Given the description of an element on the screen output the (x, y) to click on. 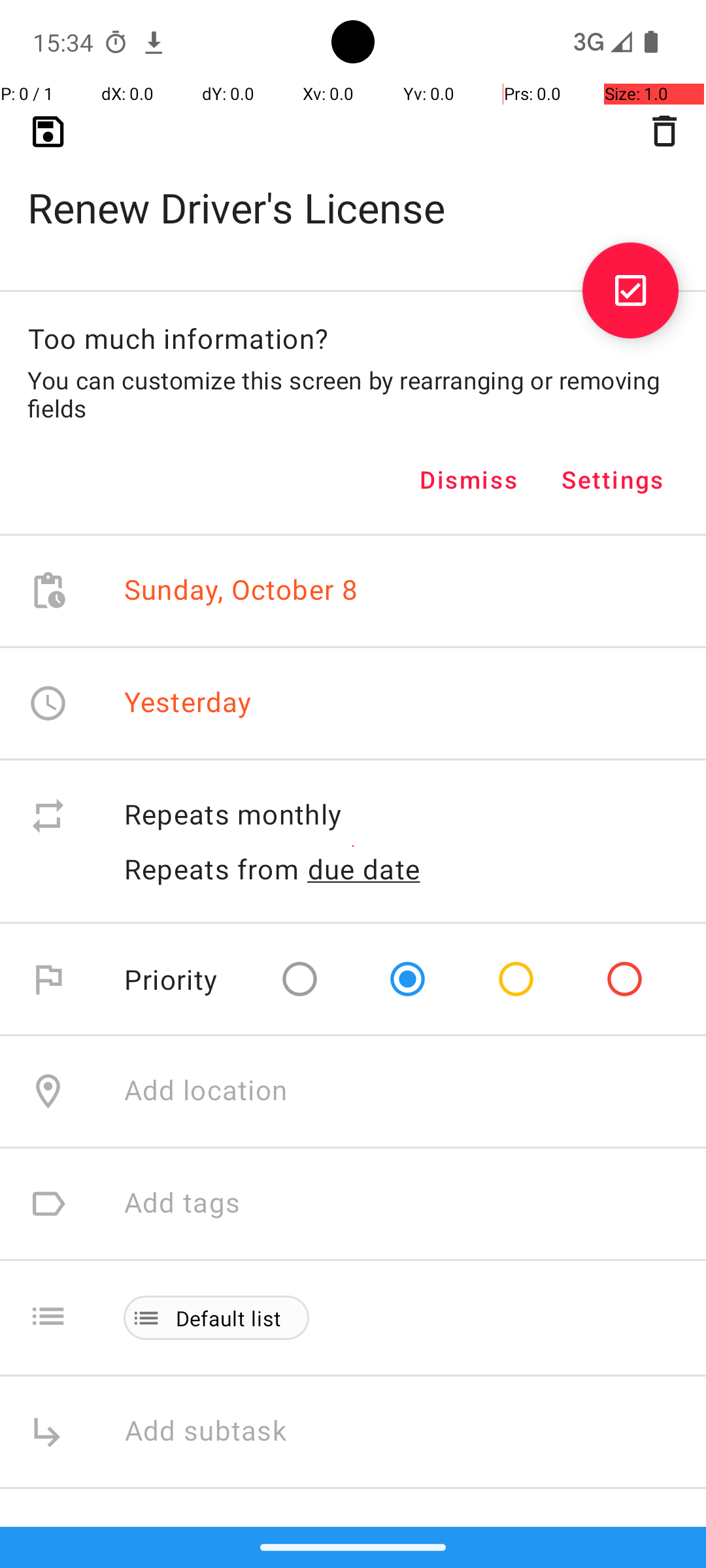
Sunday, October 8 Element type: android.widget.TextView (240, 590)
Repeats monthly Element type: android.widget.TextView (400, 815)
